Given the description of an element on the screen output the (x, y) to click on. 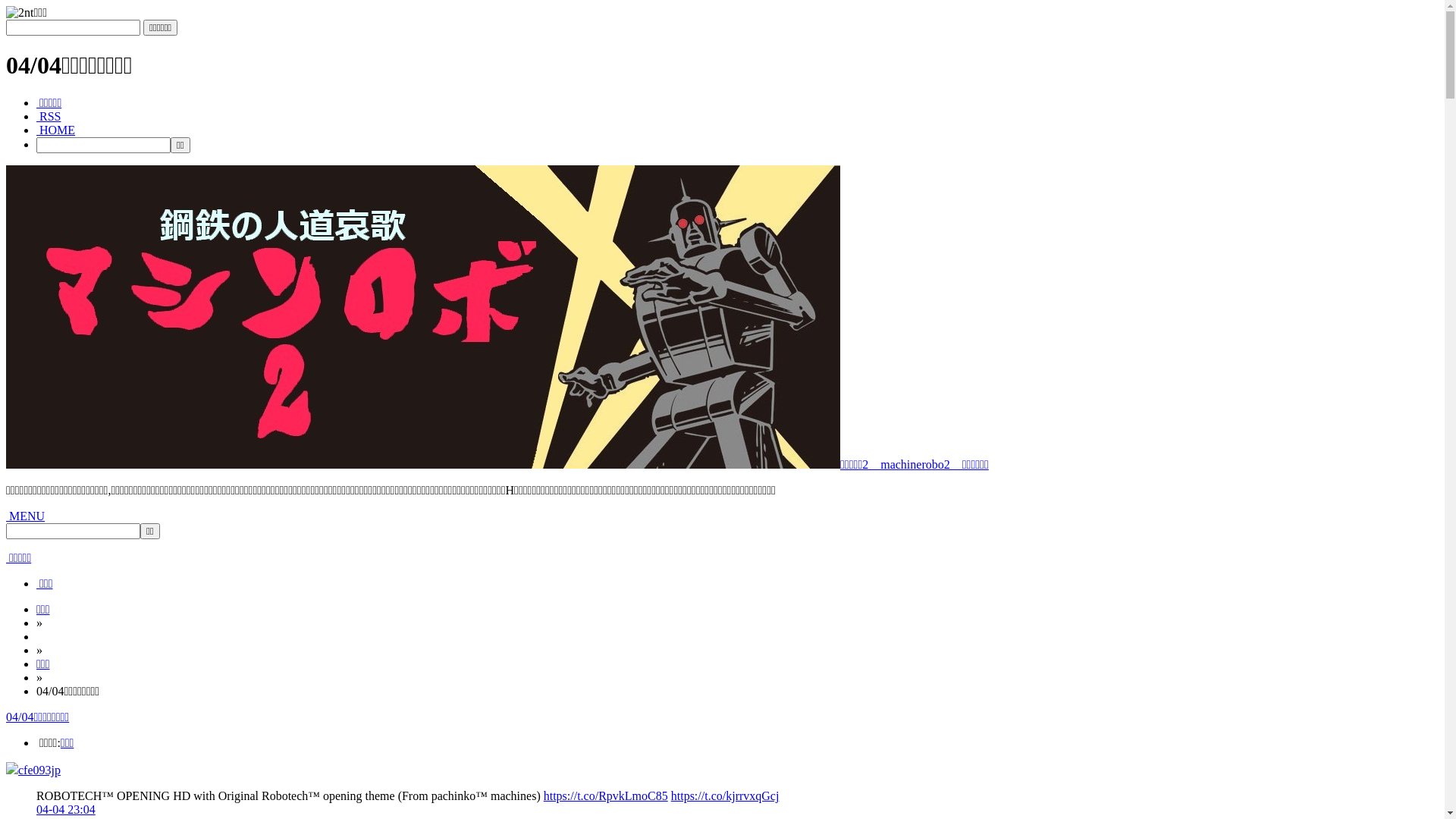
https://t.co/RpvkLmoC85 Element type: text (605, 795)
04-04 23:04 Element type: text (65, 809)
 MENU Element type: text (25, 515)
 HOME Element type: text (55, 129)
https://t.co/kjrrvxqGcj Element type: text (725, 795)
cfe093jp Element type: text (39, 769)
 RSS Element type: text (48, 115)
